Given the description of an element on the screen output the (x, y) to click on. 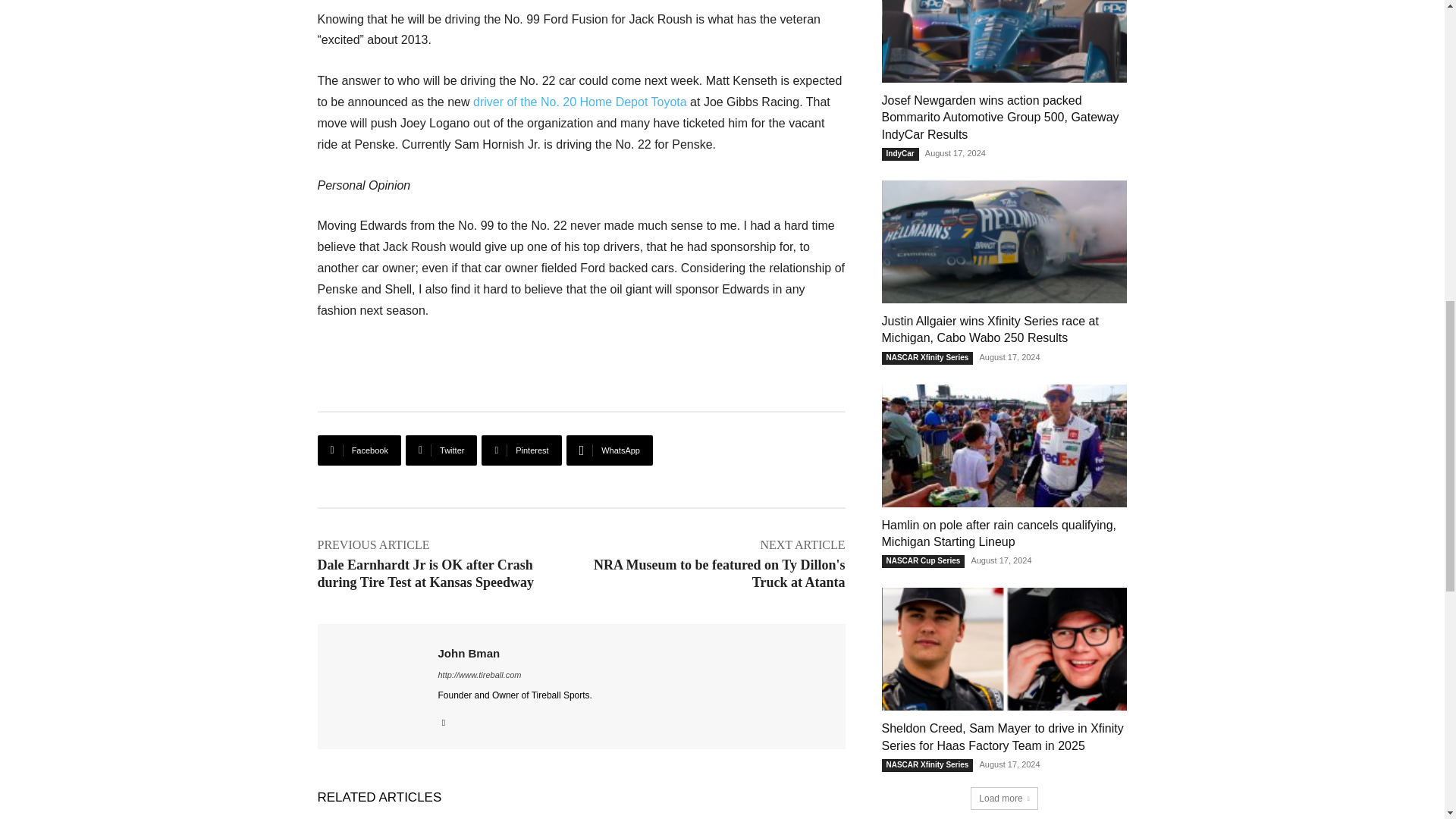
Pinterest (520, 450)
WhatsApp (609, 450)
Facebook (358, 450)
Twitter (441, 450)
